Given the description of an element on the screen output the (x, y) to click on. 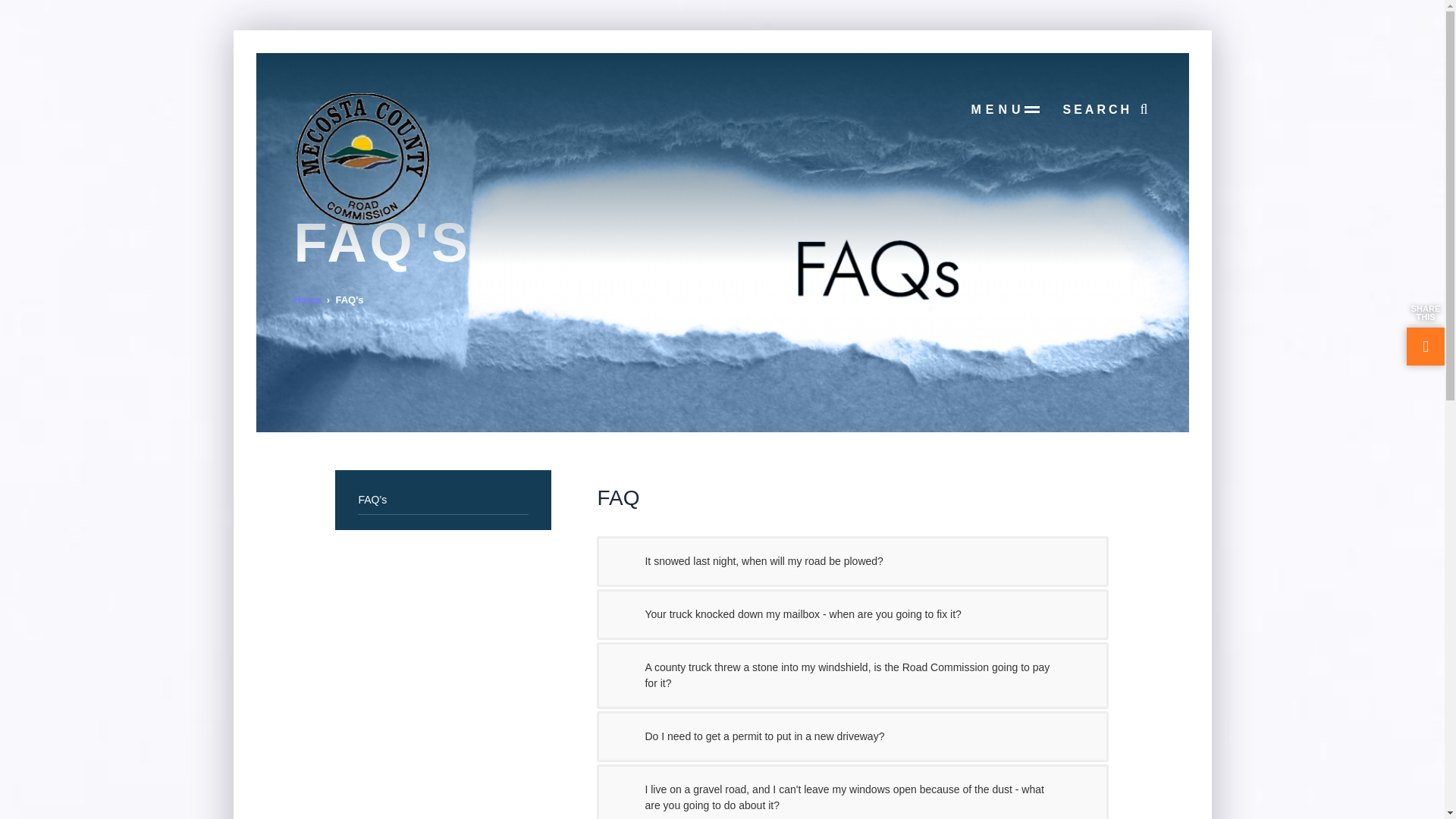
Home (307, 299)
FAQ's (443, 500)
